Given the description of an element on the screen output the (x, y) to click on. 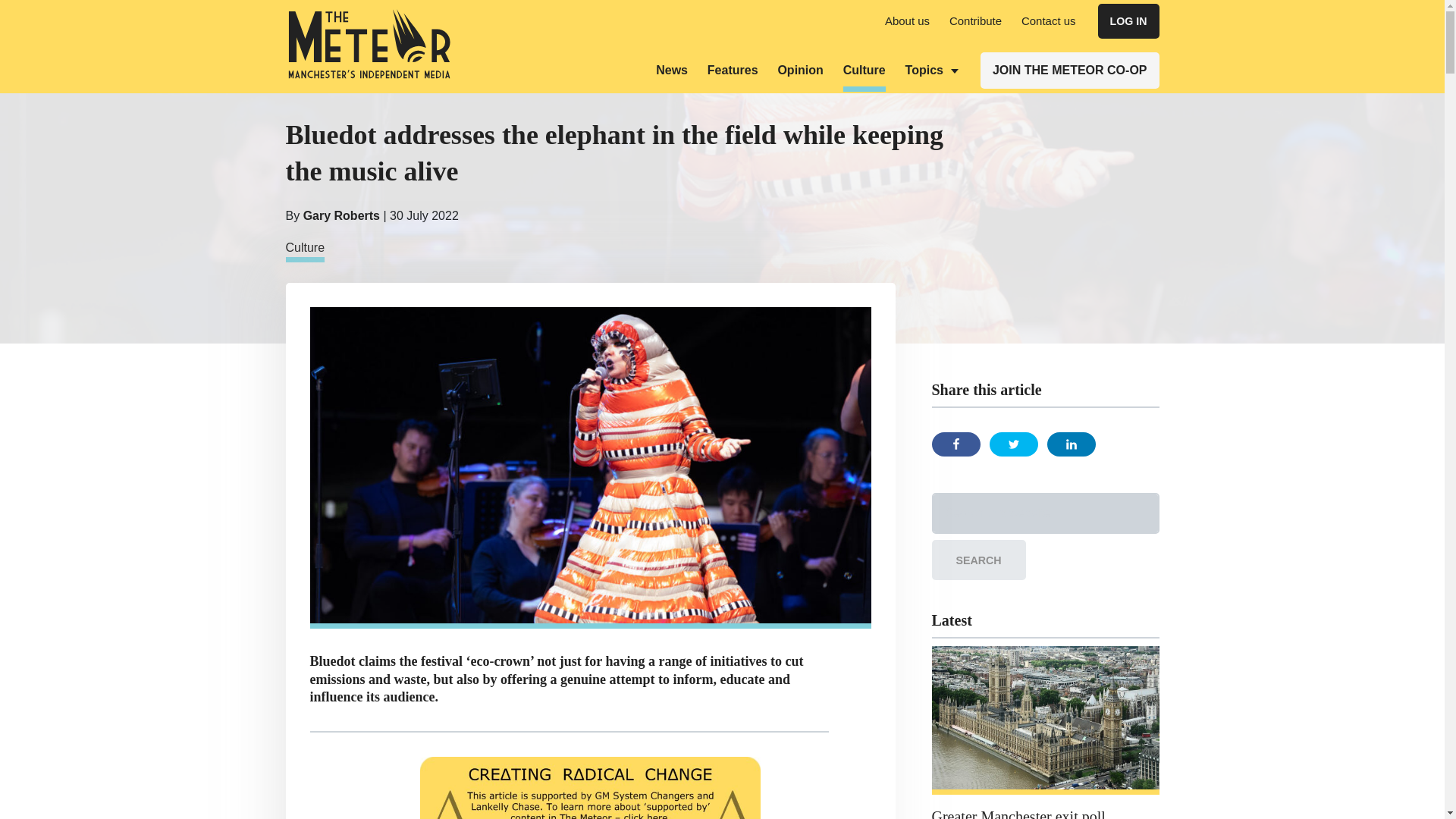
JOIN THE METEOR CO-OP (1069, 69)
Share on LinkedIn (1070, 444)
News (671, 69)
Share on Twitter (1012, 444)
About us (907, 19)
Contribute (975, 19)
Search (978, 559)
Share on Facebook (955, 444)
Contact us (1048, 19)
Opinion (799, 69)
LOG IN (1128, 21)
Features (732, 69)
Culture (304, 250)
Gary Roberts (341, 215)
